Given the description of an element on the screen output the (x, y) to click on. 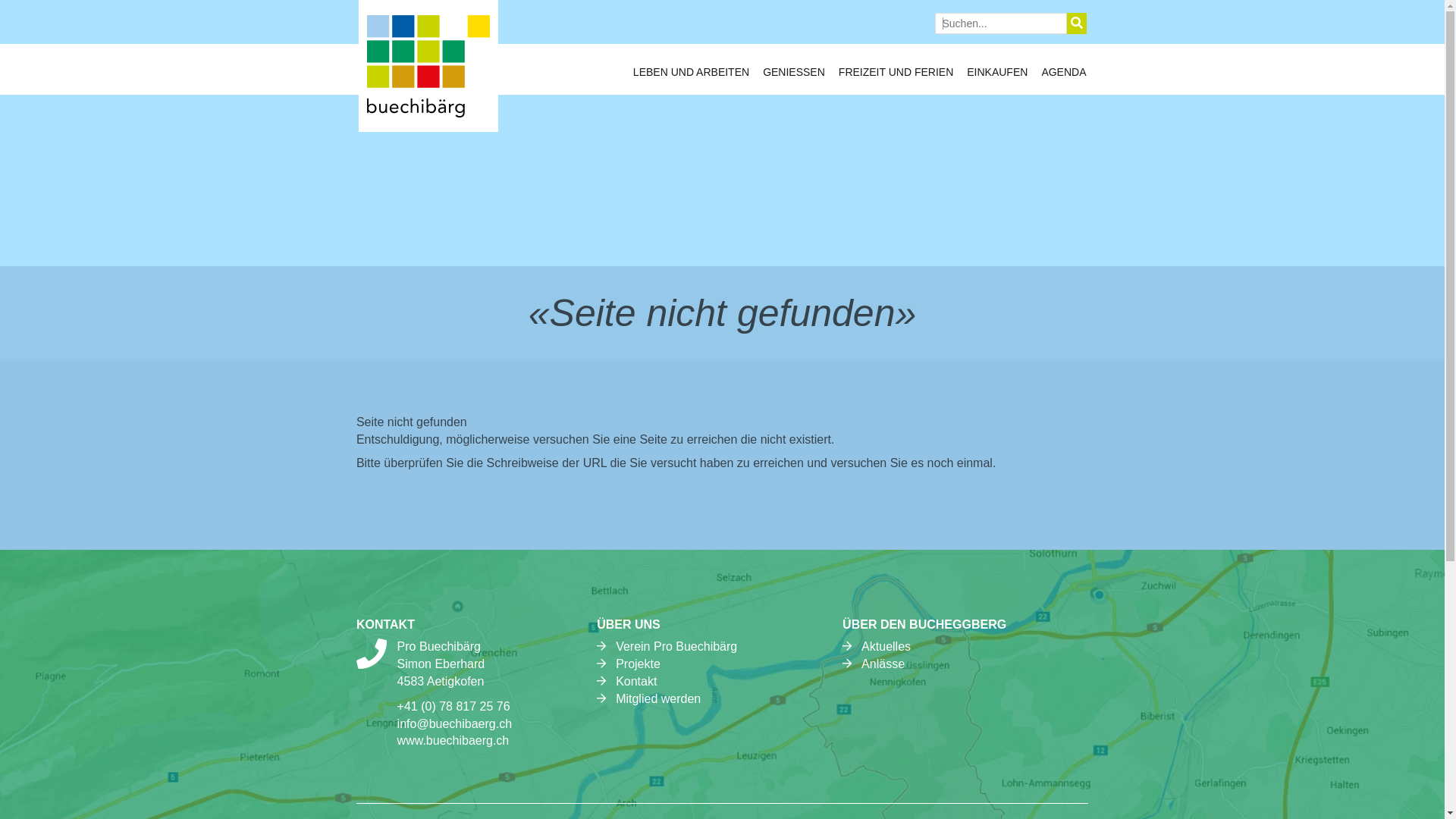
AGENDA Element type: text (1063, 75)
Projekte Element type: text (637, 663)
Mitglied werden Element type: text (657, 698)
www.buechibaerg.ch Element type: text (453, 740)
info@buechibaerg.ch Element type: text (454, 723)
FREIZEIT UND FERIEN Element type: text (895, 75)
LEBEN UND ARBEITEN Element type: text (691, 75)
GENIESSEN Element type: text (793, 75)
Aktuelles Element type: text (885, 646)
Kontakt Element type: text (635, 680)
EINKAUFEN Element type: text (996, 75)
